Given the description of an element on the screen output the (x, y) to click on. 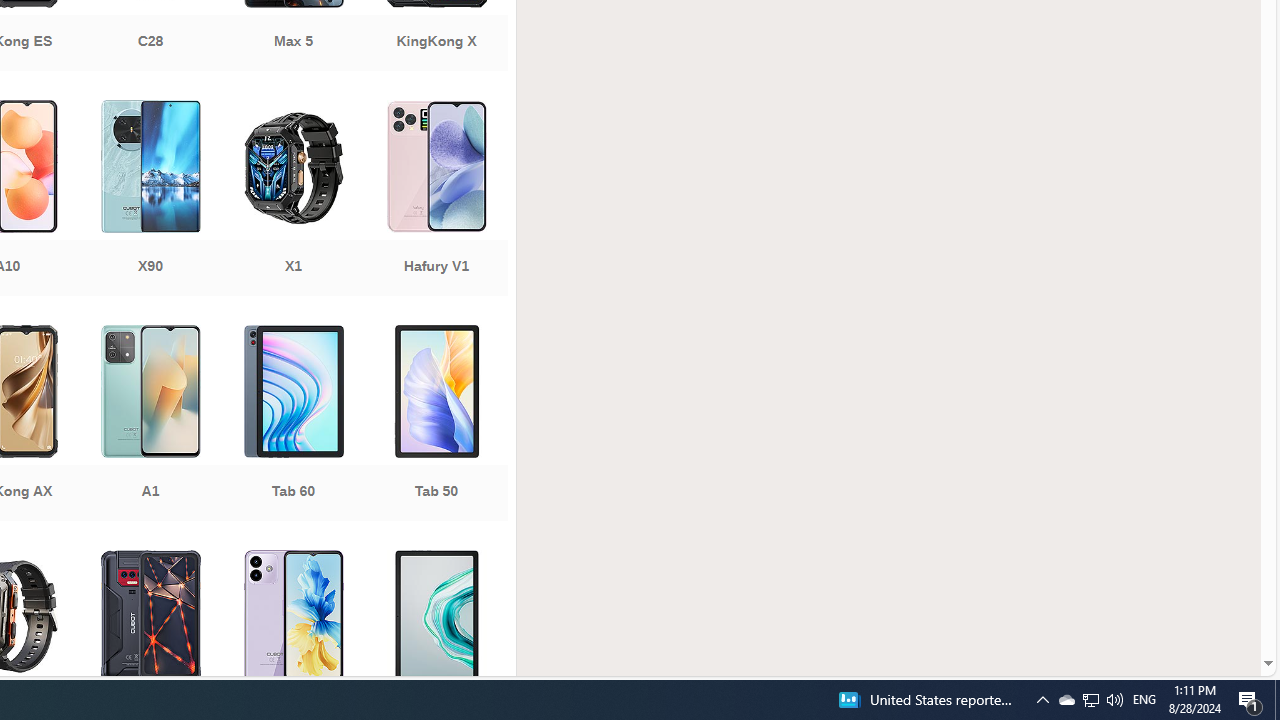
Tab 50 (436, 425)
X1 (292, 200)
